Given the description of an element on the screen output the (x, y) to click on. 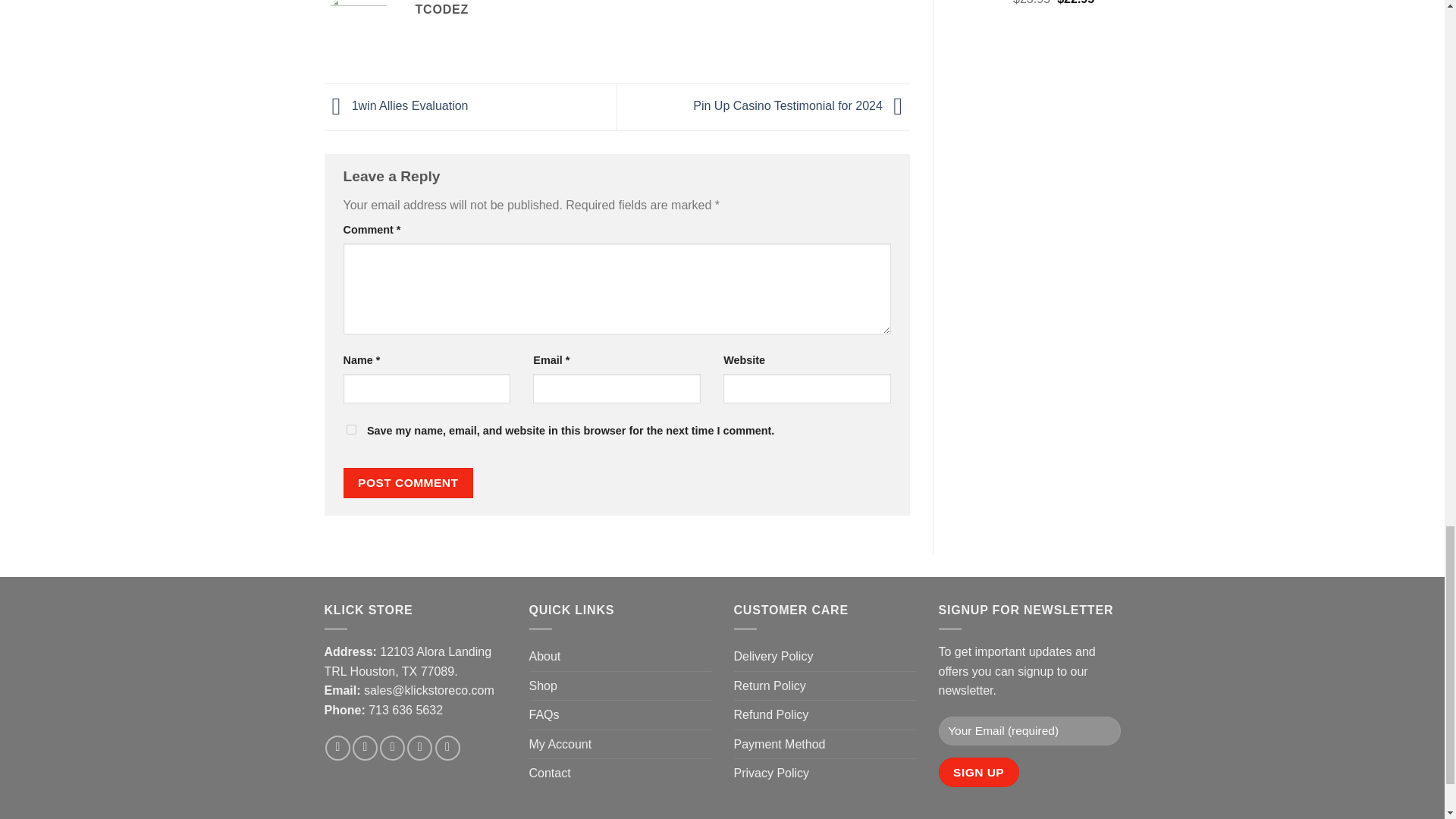
Post Comment (407, 482)
yes (350, 429)
1win Allies Evaluation (396, 106)
Sign Up (979, 772)
